Given the description of an element on the screen output the (x, y) to click on. 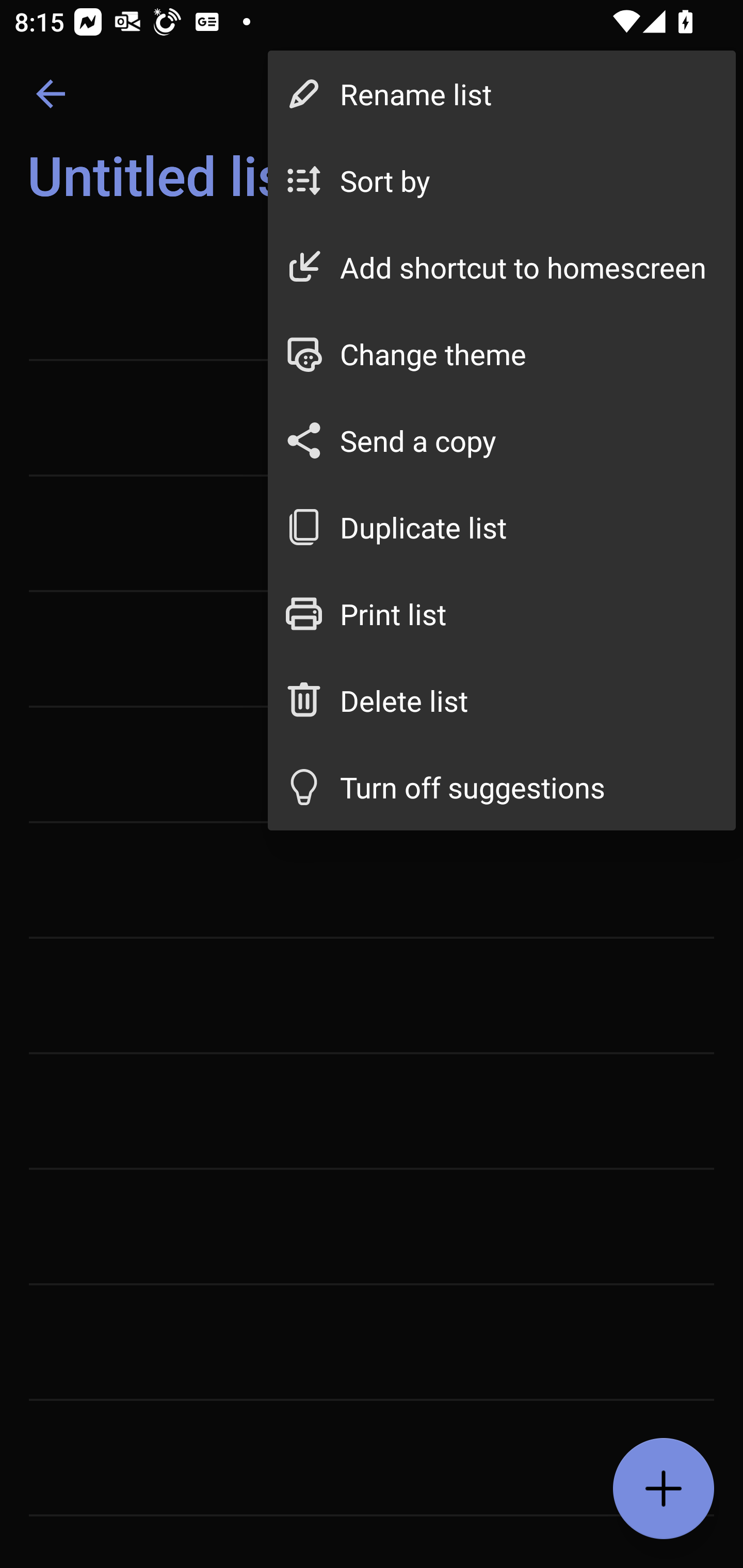
Rename list1 in 9 Rename list (501, 93)
Sort by2 in 9 Sort by (501, 180)
Change theme4 in 9 Change theme (501, 353)
Send a copy5 in 9 Send a copy (501, 440)
Duplicate list6 in 9 Duplicate list (501, 527)
Print list7 in 9 Print list (501, 613)
Delete list8 in 9 Delete list (501, 699)
Turn off suggestions9 in 9 Turn off suggestions (501, 787)
